Given the description of an element on the screen output the (x, y) to click on. 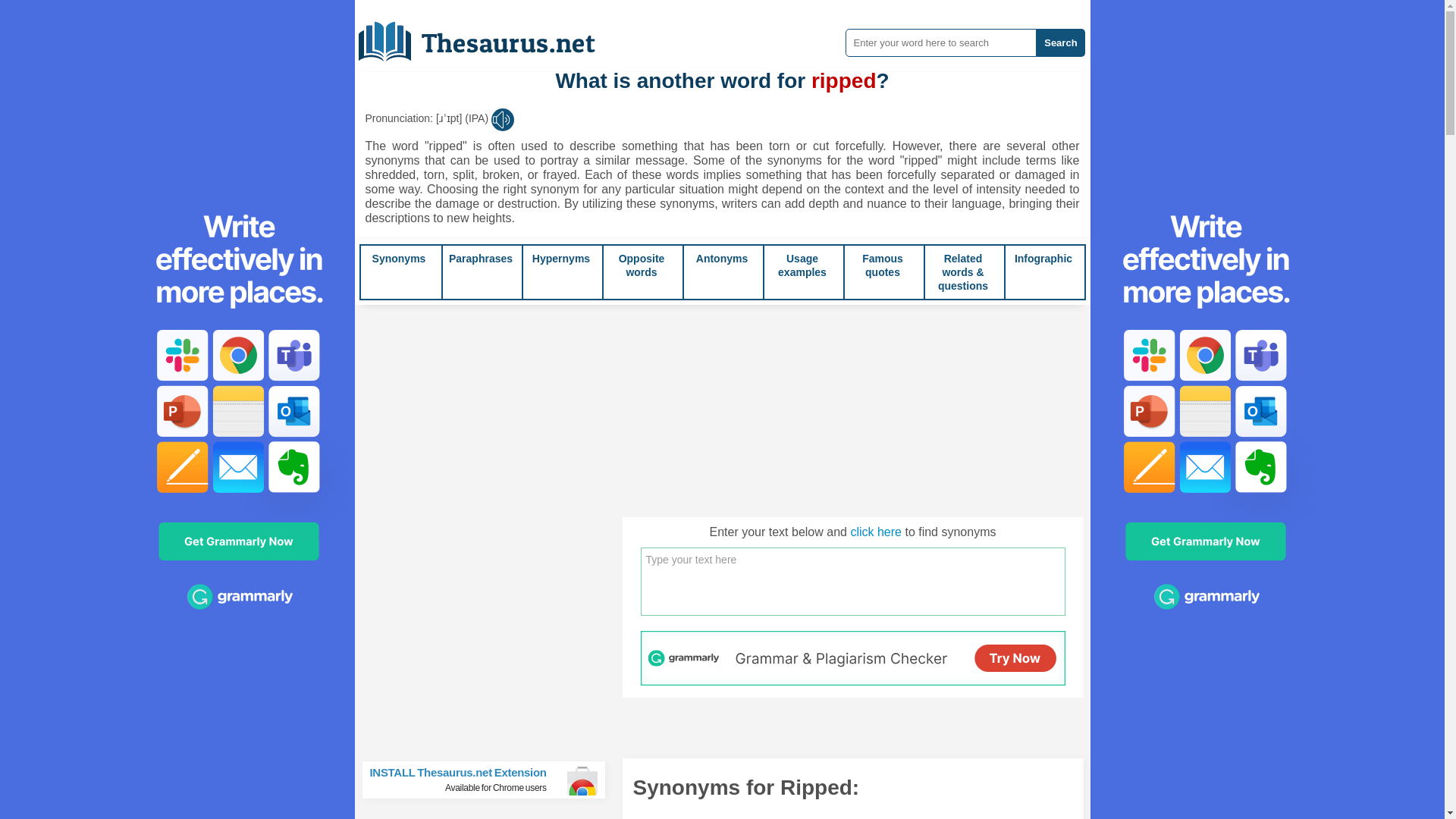
click here (875, 531)
Hypernyms (560, 258)
Infographic (1042, 258)
Paraphrases (480, 258)
Famous quotes (881, 265)
Synonyms (399, 258)
Usage examples (802, 265)
Thesaurus.net (487, 35)
Opposite words (641, 265)
Famous quotes (881, 265)
